Given the description of an element on the screen output the (x, y) to click on. 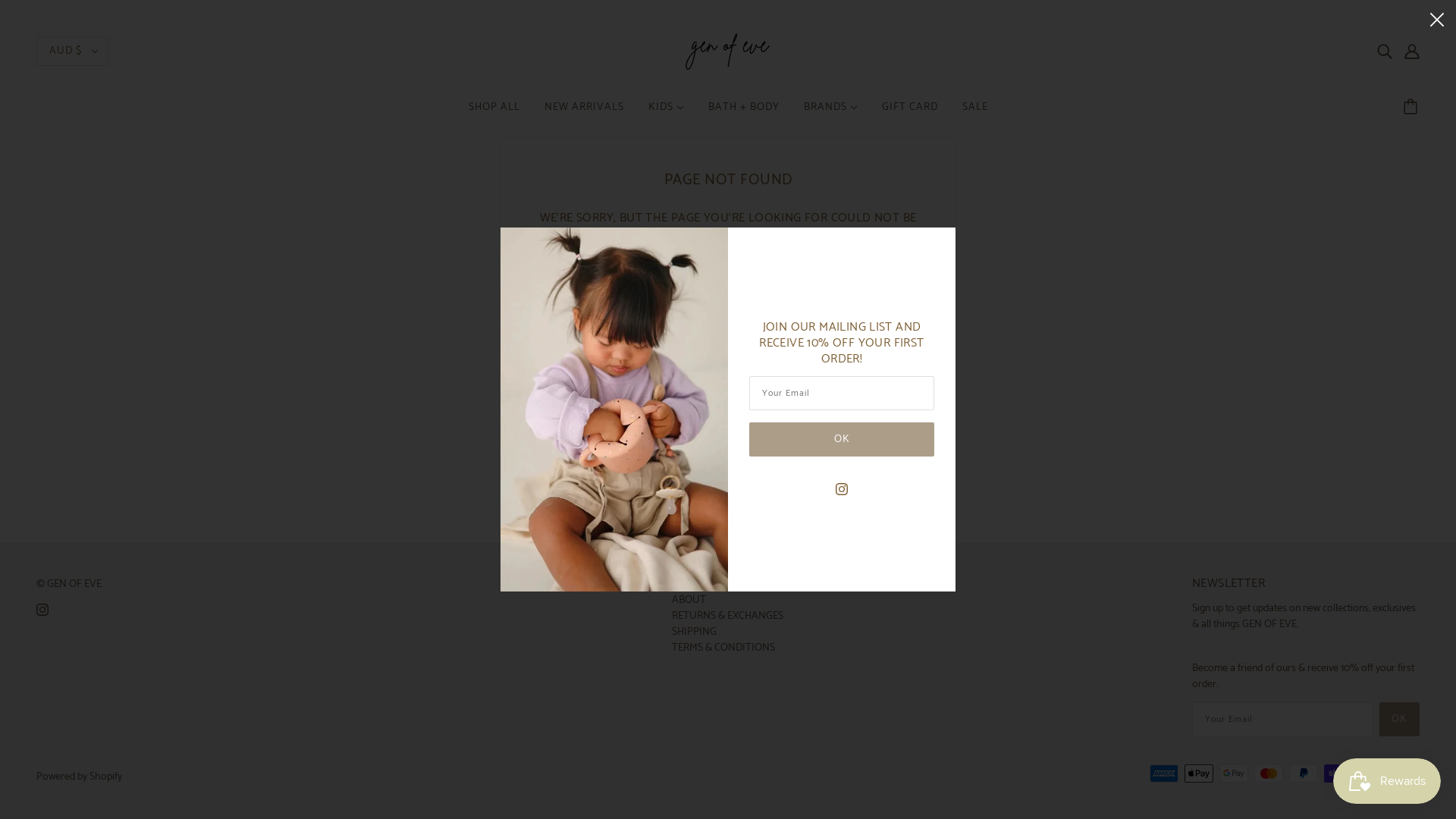
BATH + BODY Element type: text (743, 113)
TERMS & CONDITIONS Element type: text (723, 646)
NEW ARRIVALS Element type: text (584, 113)
CONTACT US Element type: text (702, 583)
SHOP ALL Element type: text (494, 113)
OK Element type: text (1399, 719)
KIDS Element type: text (665, 113)
SHIPPING Element type: text (693, 631)
GEN OF EVE Element type: hover (727, 50)
ABOUT Element type: text (688, 599)
Smile.io Rewards Program Launcher Element type: hover (1386, 780)
products Element type: text (831, 271)
Home page Element type: text (695, 271)
Powered by Shopify Element type: text (79, 776)
OK Element type: text (841, 439)
GIFT CARD Element type: text (909, 113)
BRANDS Element type: text (830, 113)
RETURNS & EXCHANGES Element type: text (727, 615)
SALE Element type: text (974, 113)
